Given the description of an element on the screen output the (x, y) to click on. 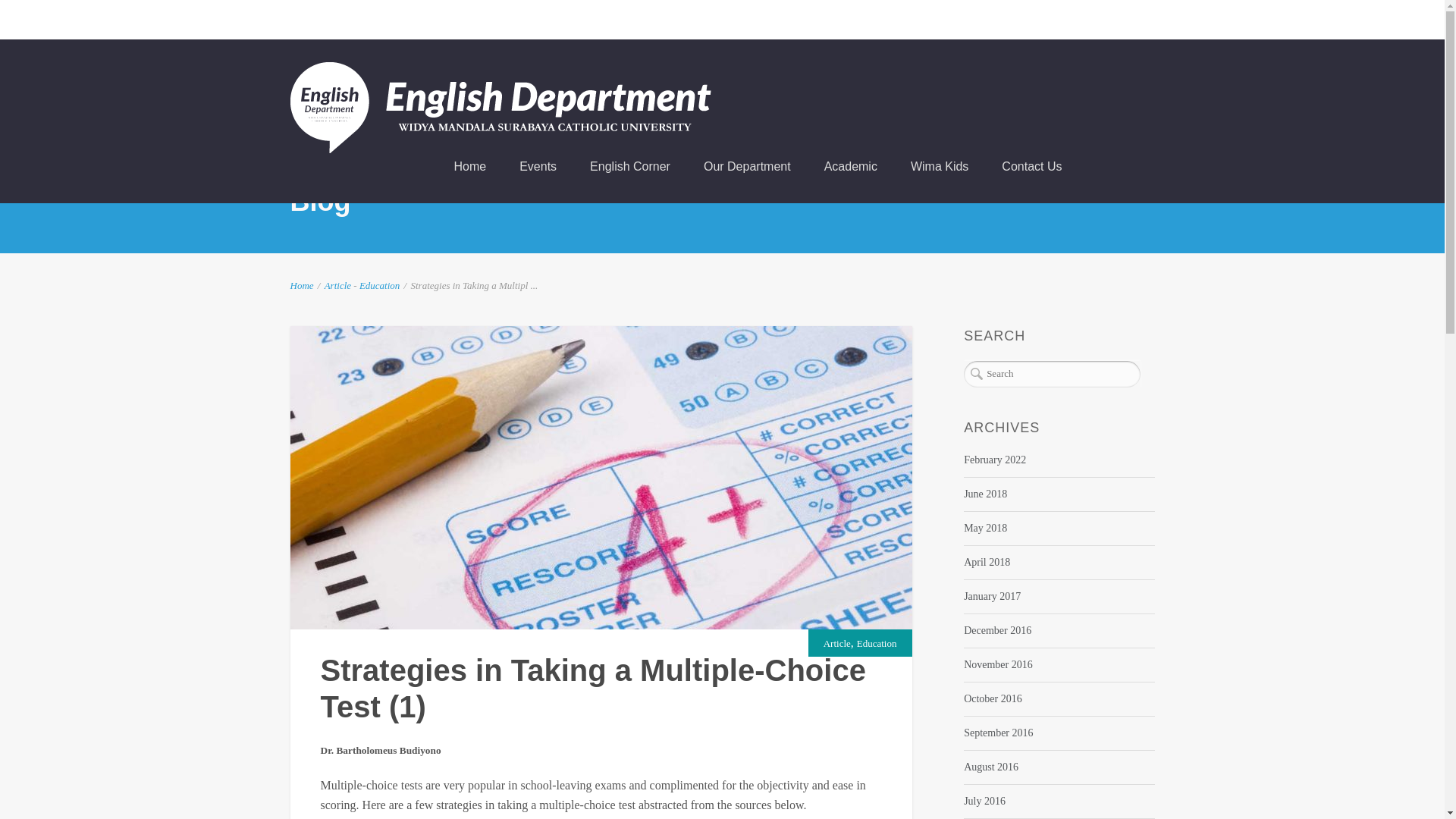
Events (537, 166)
English Department UKWMS (499, 107)
Home (469, 166)
